Given the description of an element on the screen output the (x, y) to click on. 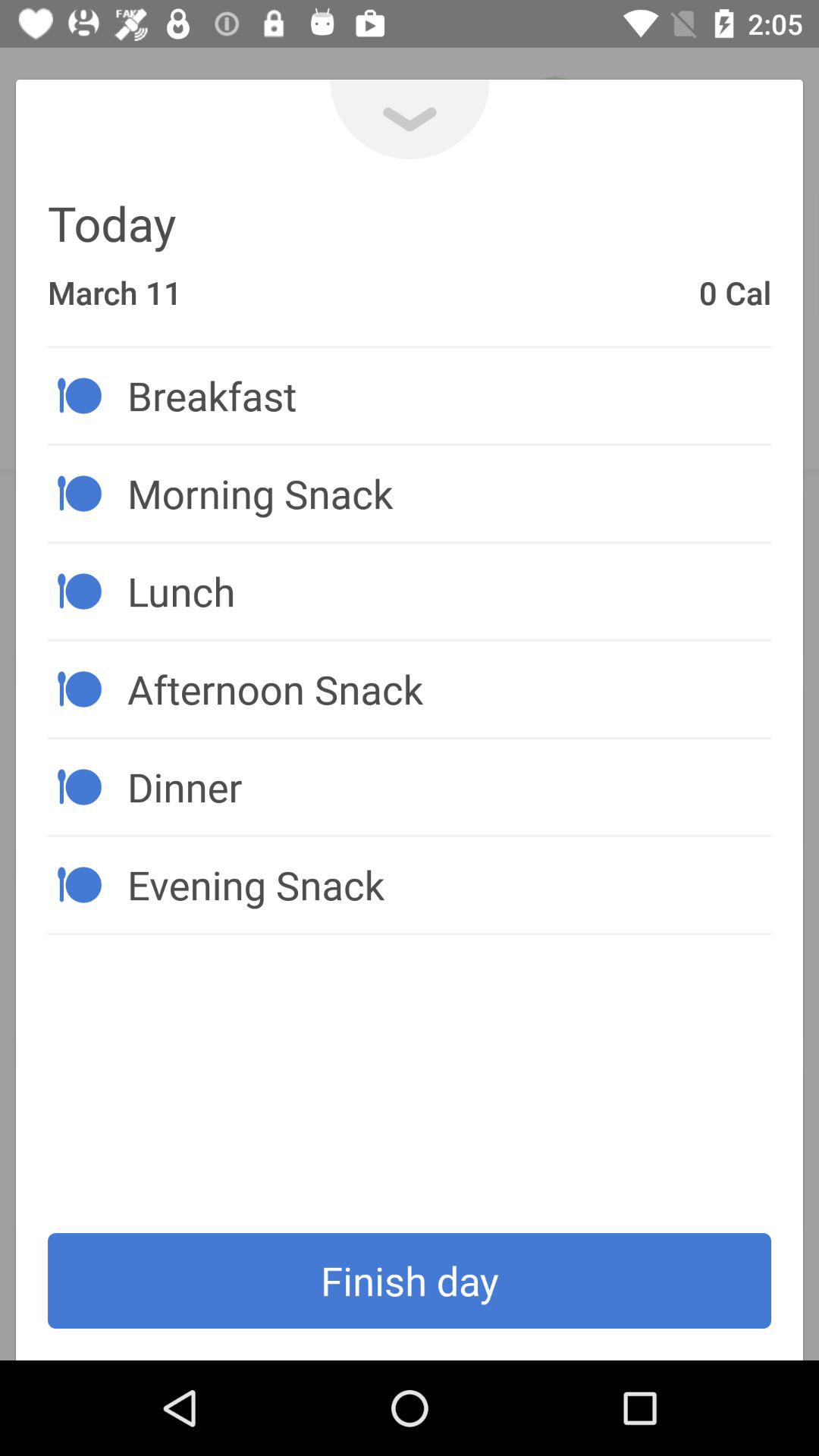
select the breakfast icon (449, 395)
